Given the description of an element on the screen output the (x, y) to click on. 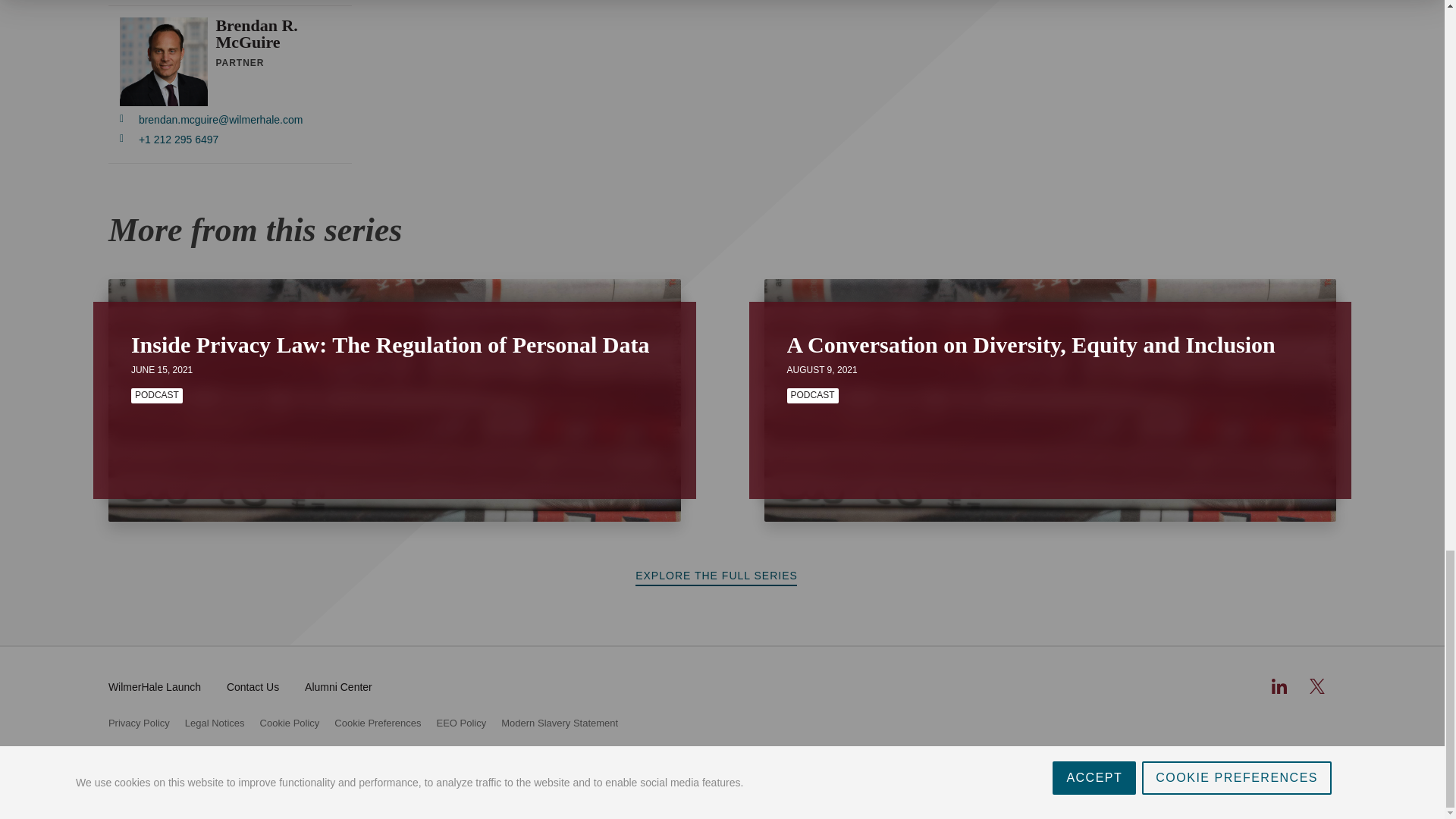
WilmerHale on LinkedIn (1279, 685)
WilmerHale on X (1316, 685)
